Given the description of an element on the screen output the (x, y) to click on. 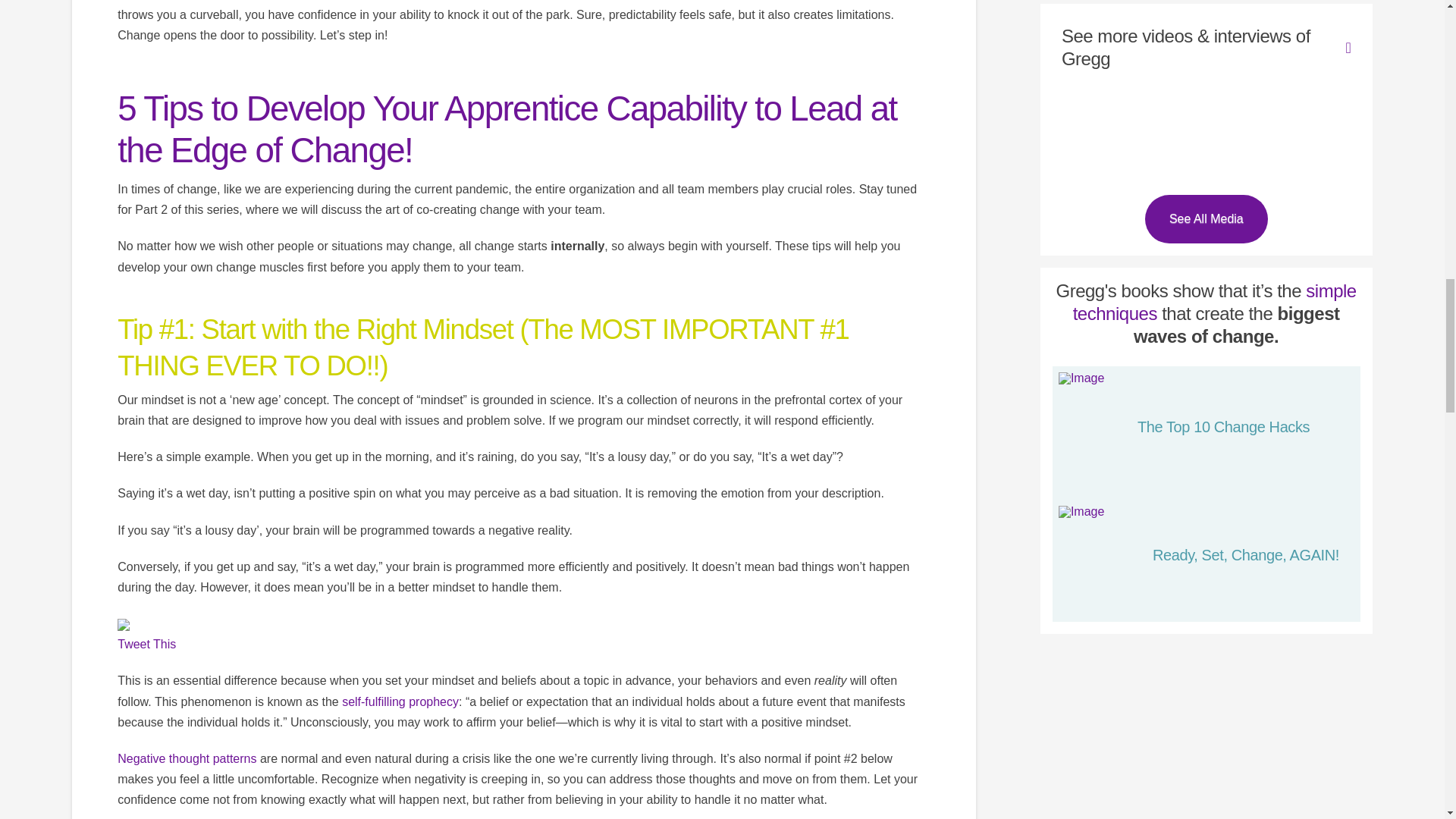
self-fulfilling prophecy (400, 701)
Negative thought patterns (186, 758)
Tweet This (146, 644)
